Given the description of an element on the screen output the (x, y) to click on. 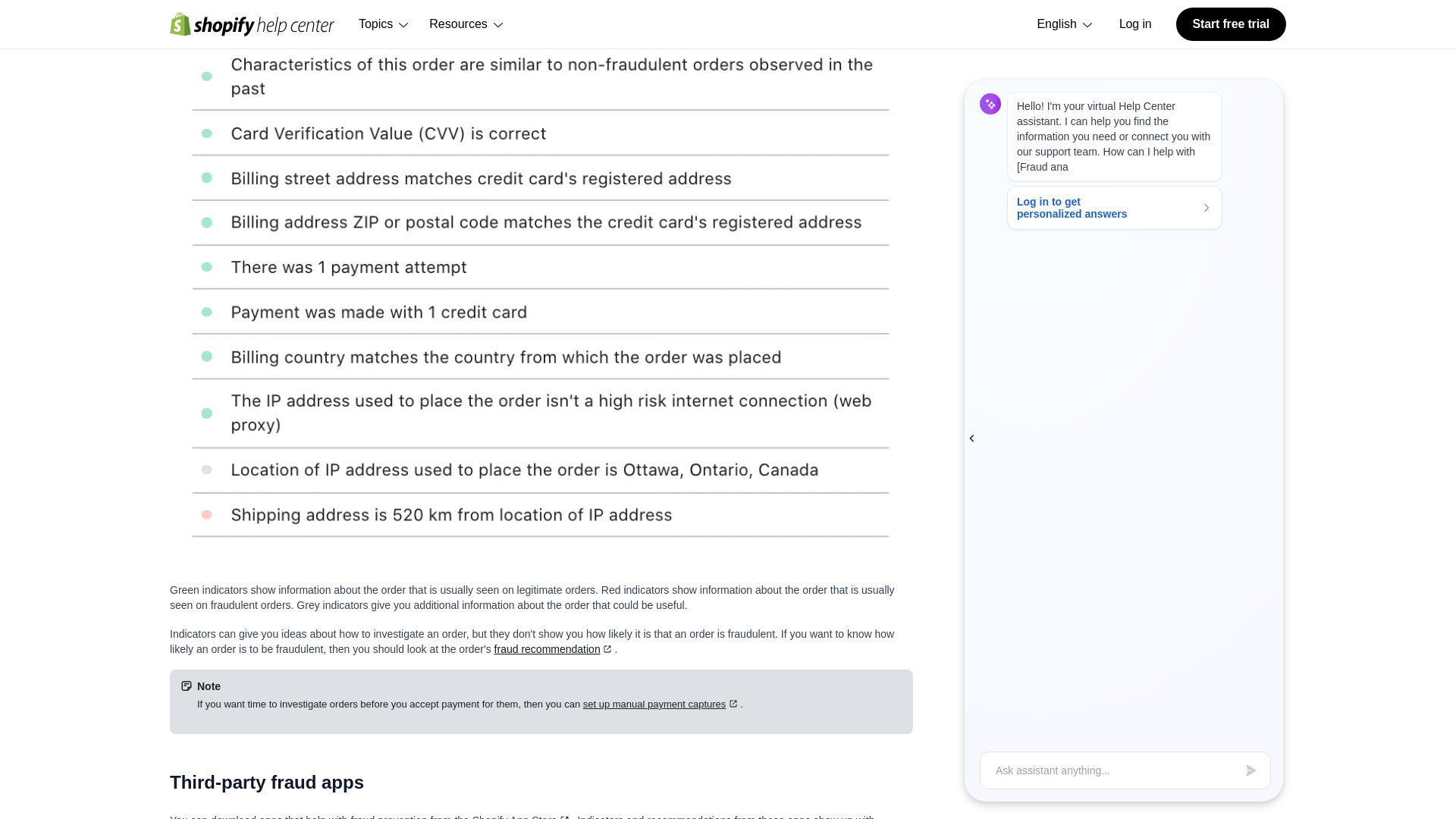
fraud recommendation (554, 648)
set up manual payment captures (661, 704)
Shopify App Store (521, 816)
